Given the description of an element on the screen output the (x, y) to click on. 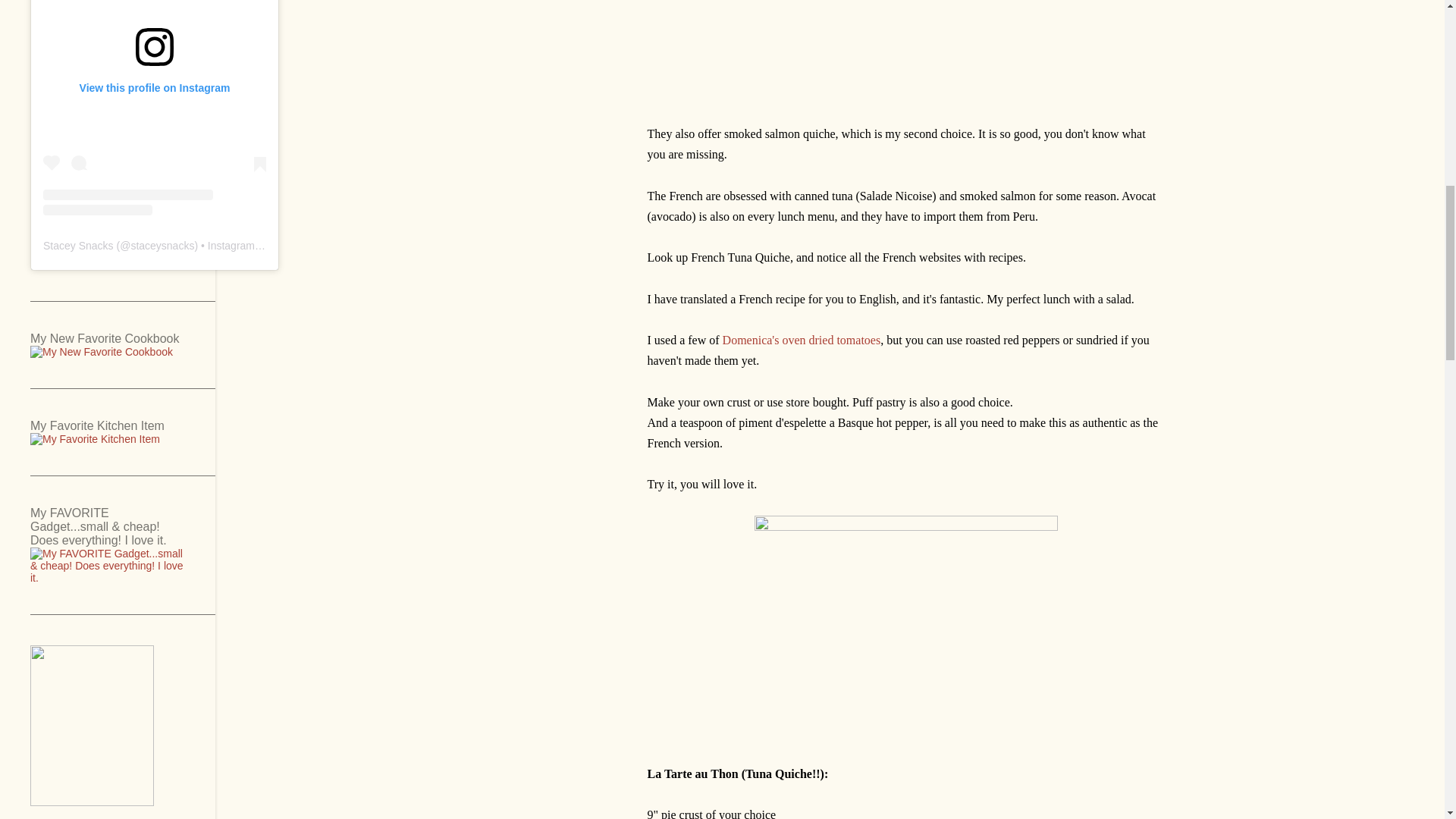
Domenica's oven dried tomatoes (801, 339)
